Given the description of an element on the screen output the (x, y) to click on. 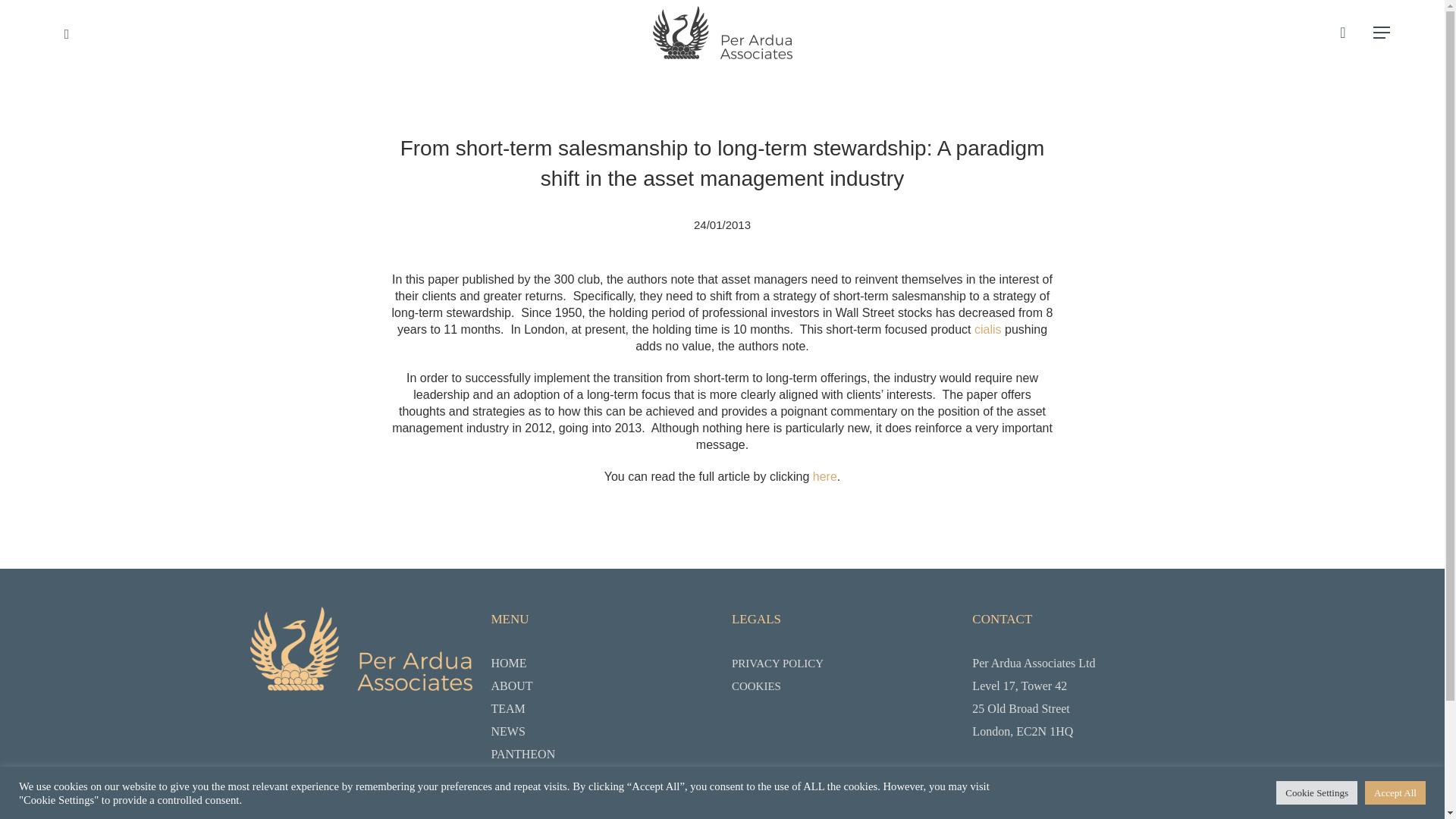
TEAM (601, 709)
ABOUT (601, 686)
search (1342, 32)
here (824, 476)
Cookie Settings (1316, 792)
cialis (987, 328)
PRIVACY POLICY (842, 663)
CONTACT (601, 777)
Accept All (1395, 792)
HOME (601, 663)
COOKIES (842, 686)
PANTHEON (601, 754)
NEWS (601, 731)
